Given the description of an element on the screen output the (x, y) to click on. 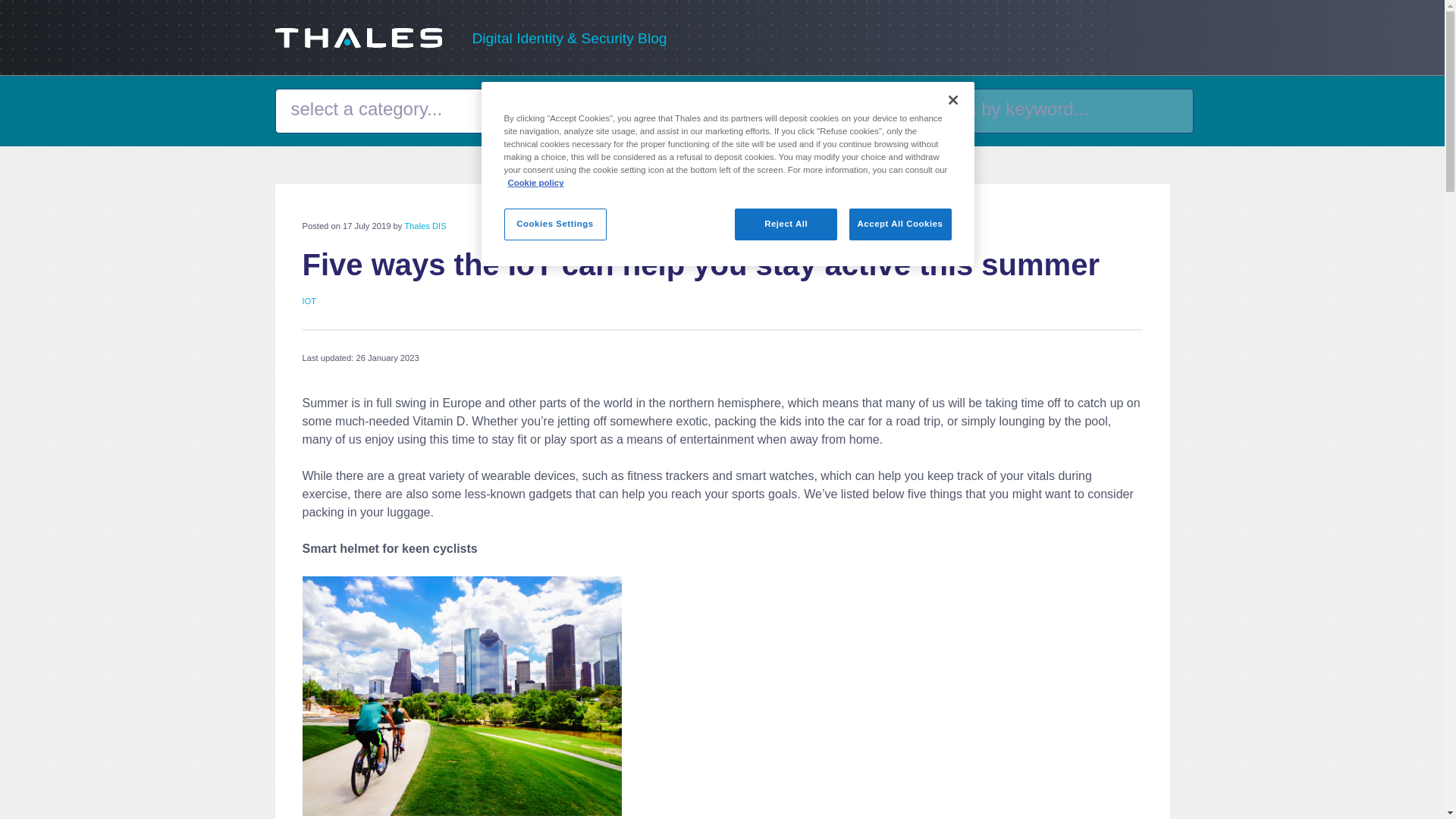
Posts by Thales DIS (424, 225)
IOT (308, 300)
Thales (358, 37)
Thales (358, 42)
Thales DIS (424, 225)
